Given the description of an element on the screen output the (x, y) to click on. 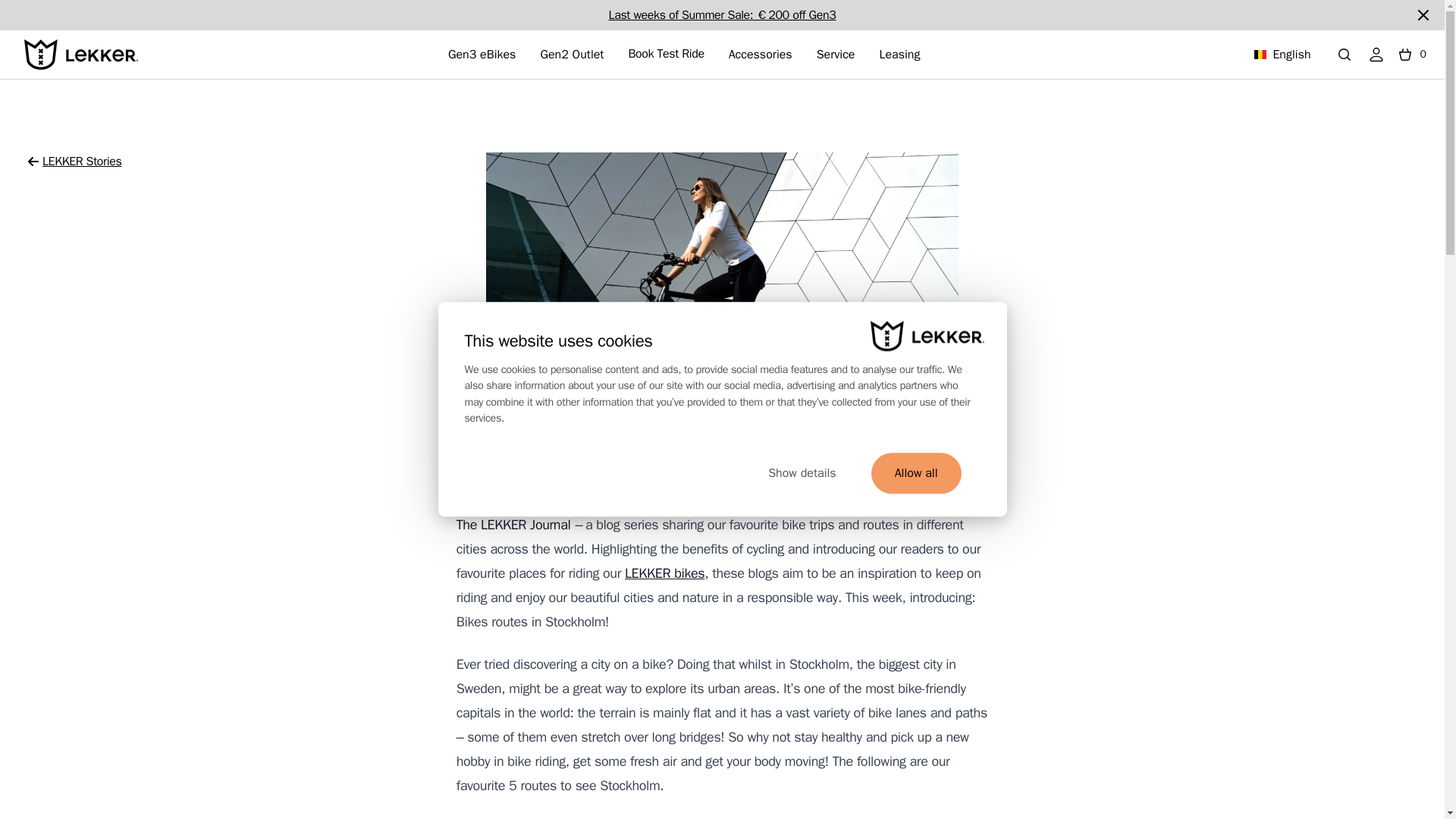
Electric Bikes Collection (721, 14)
Service (836, 55)
Book Test Ride (665, 54)
Show details (801, 473)
eBikes (664, 573)
Accessories (760, 55)
Lekker Bikes (81, 54)
Dismiss (1422, 15)
Allow all (915, 473)
Gen3 eBikes (481, 55)
